Given the description of an element on the screen output the (x, y) to click on. 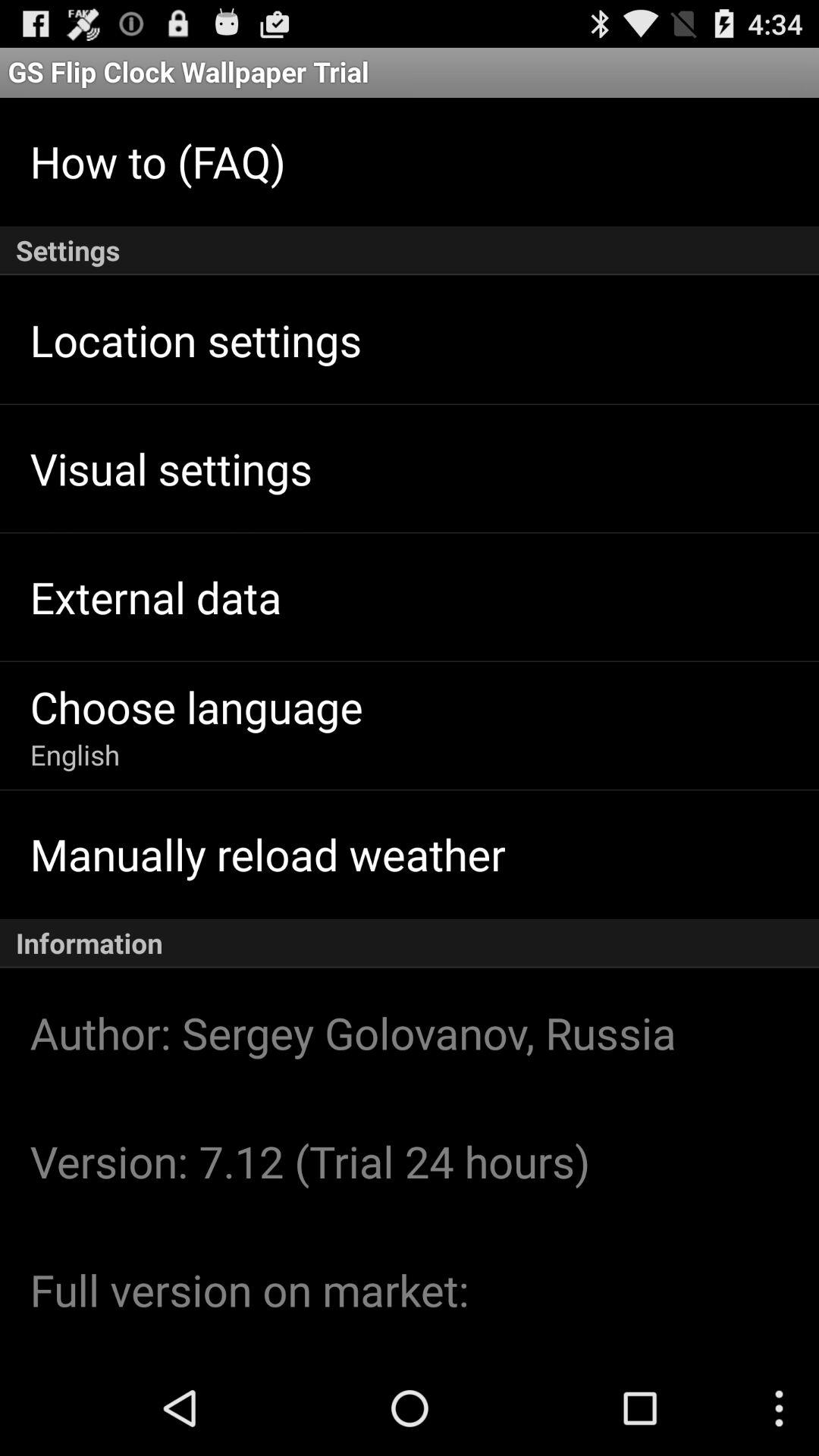
scroll until choose language (196, 706)
